Given the description of an element on the screen output the (x, y) to click on. 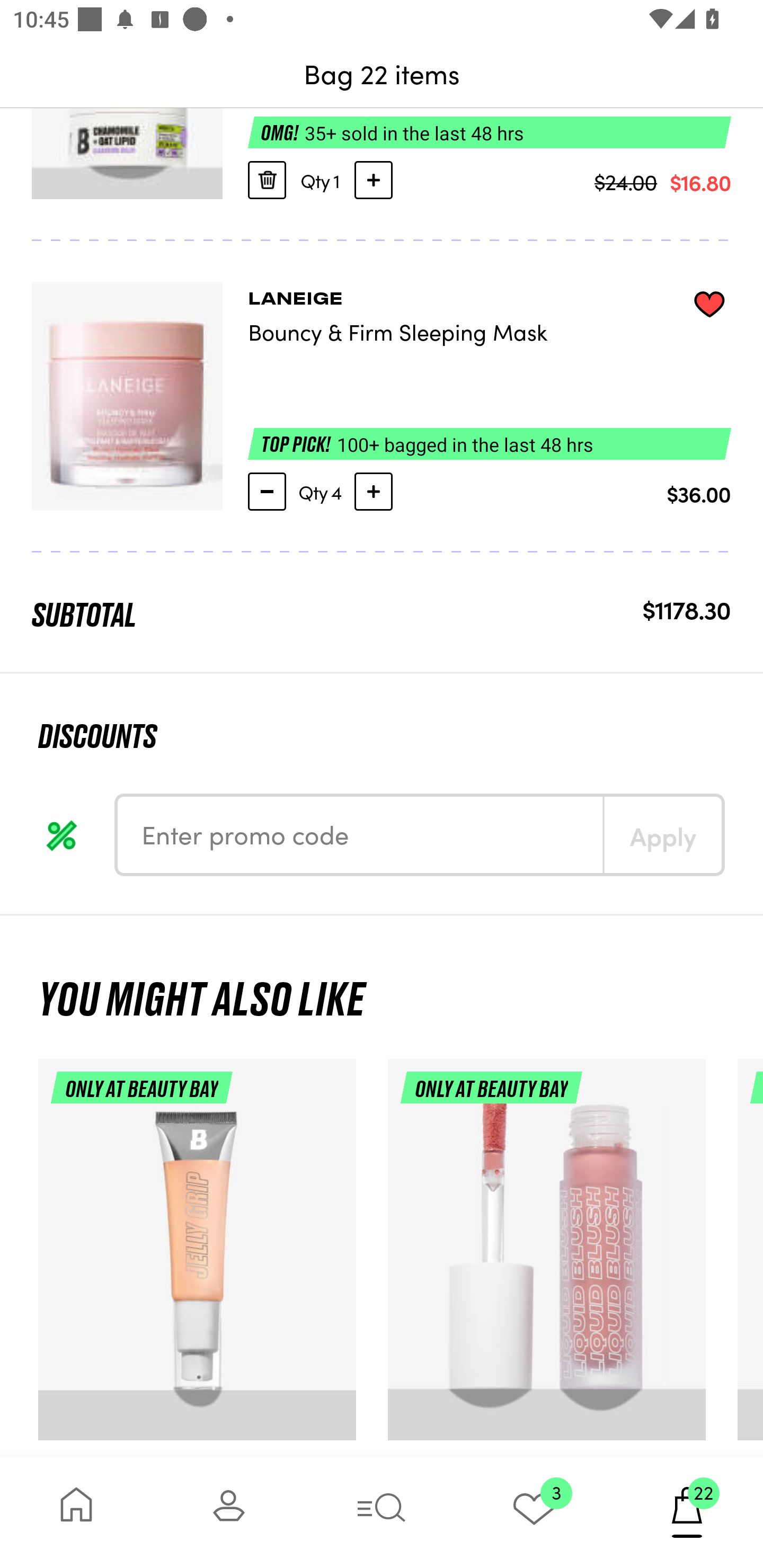
Enter promo code (360, 834)
Apply (661, 834)
ONLY AT BEAUTY BAY (197, 1257)
ONLY AT BEAUTY BAY (546, 1257)
3 (533, 1512)
22 (686, 1512)
